Given the description of an element on the screen output the (x, y) to click on. 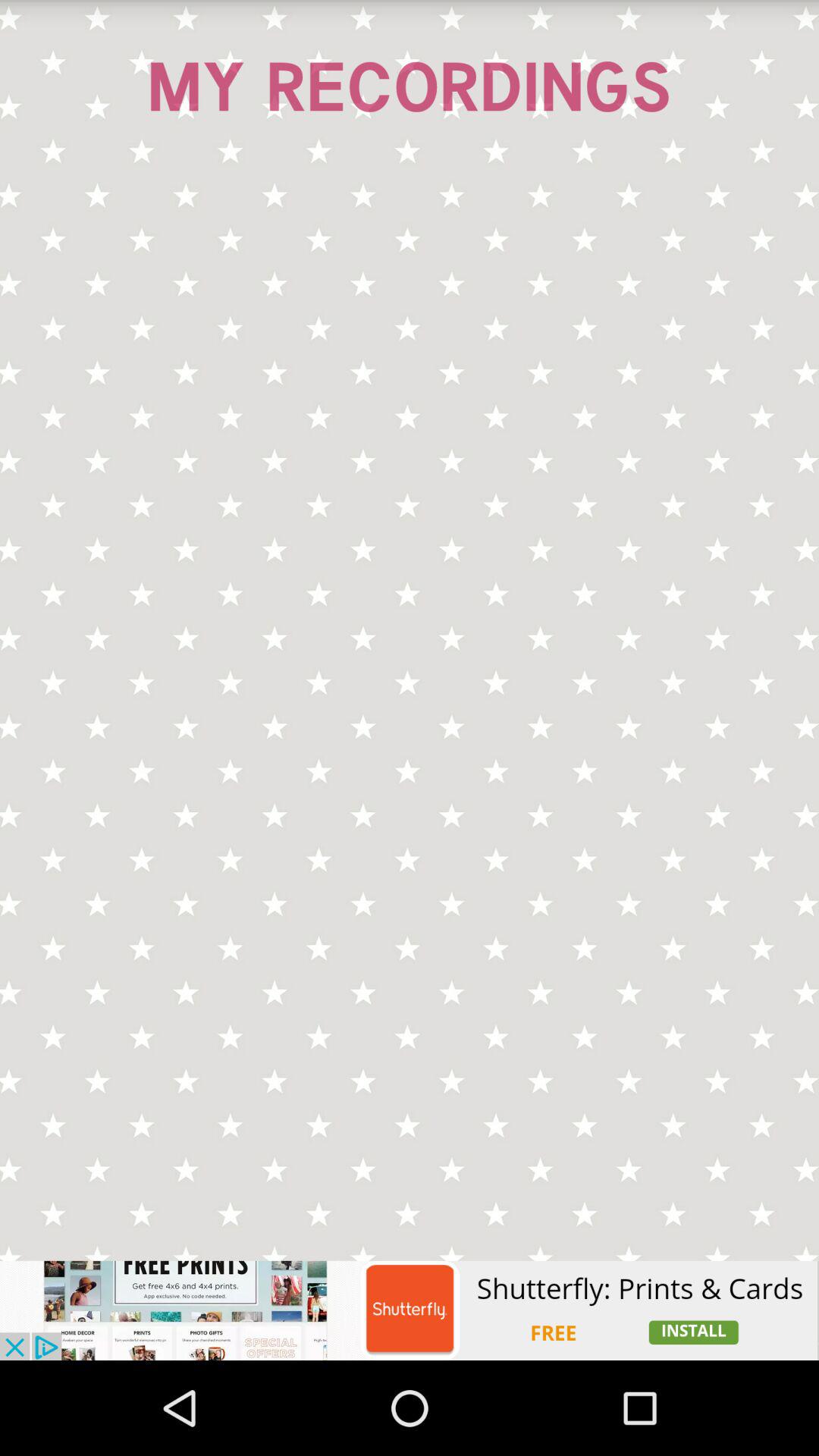
advertisement bar (409, 1310)
